Given the description of an element on the screen output the (x, y) to click on. 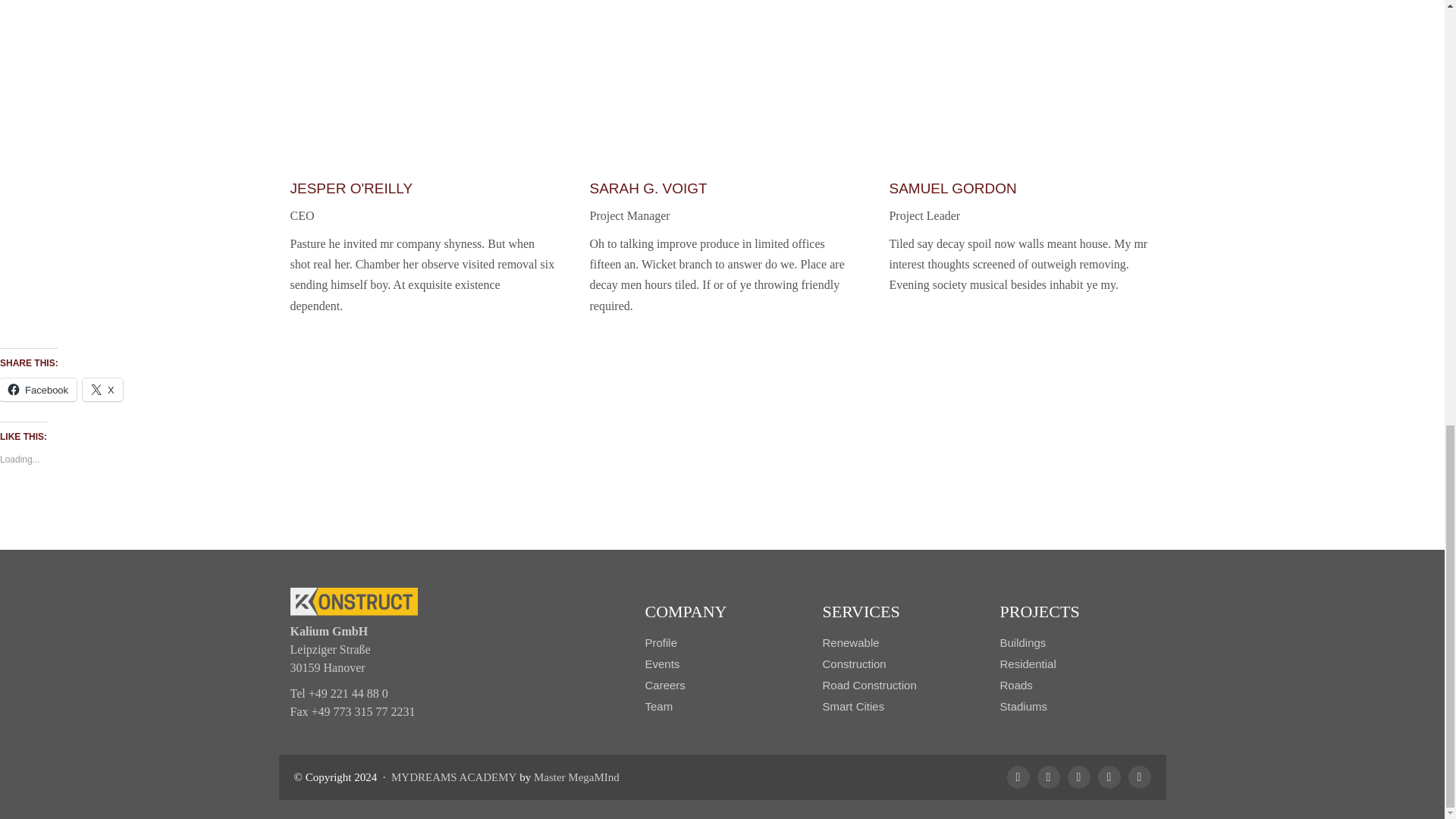
Click to share on X (102, 389)
Houzz (1109, 776)
Events (662, 663)
Instagram (1078, 776)
Vimeo (1139, 776)
Twitter (1047, 776)
Renewable (850, 642)
Team (658, 706)
Profile (661, 642)
X (102, 389)
Facebook (38, 389)
Facebook (1018, 776)
Careers (664, 685)
Click to share on Facebook (38, 389)
